Given the description of an element on the screen output the (x, y) to click on. 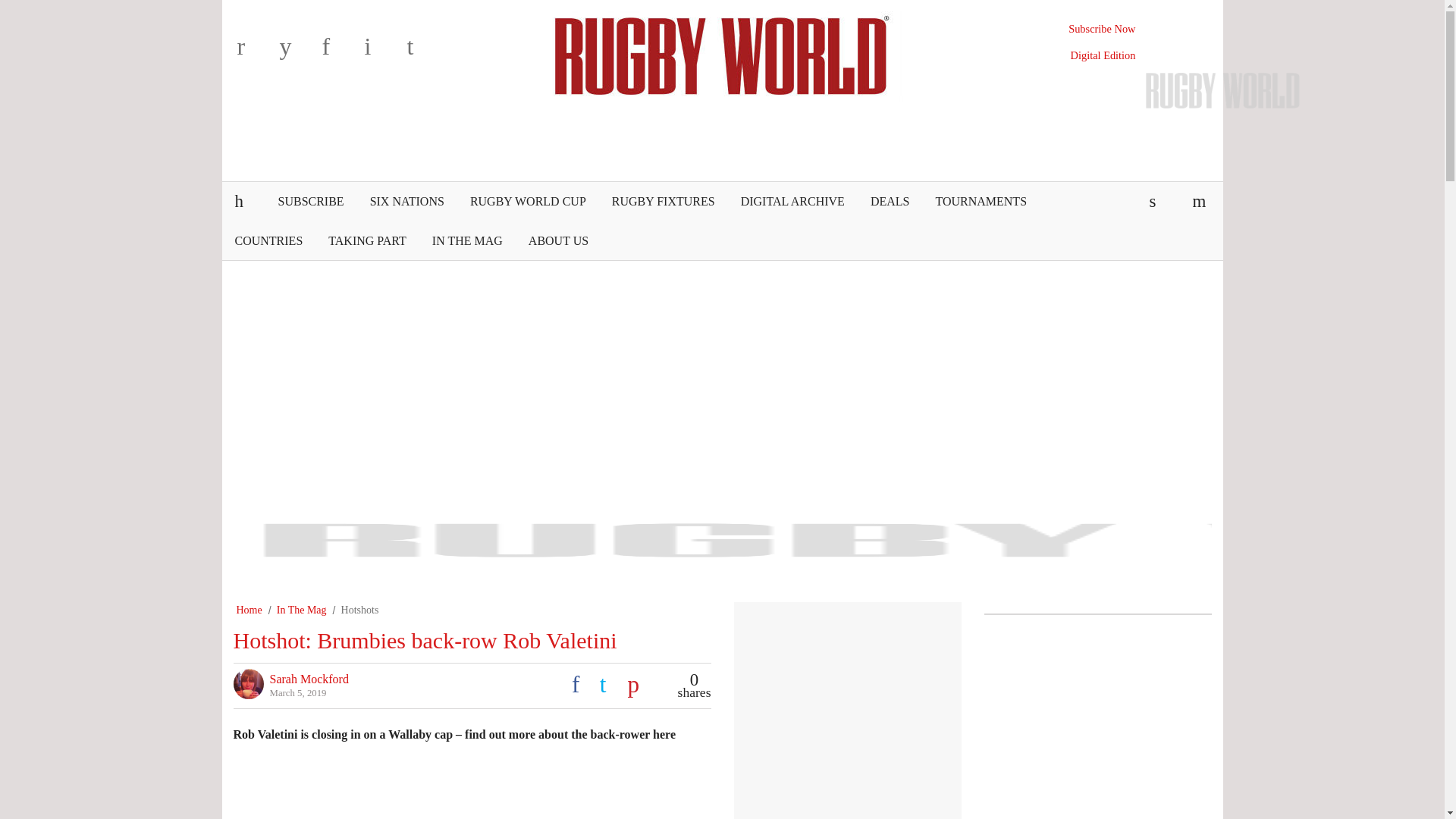
i (382, 52)
RUGBY FIXTURES (663, 201)
Rugby World (721, 53)
DEALS (890, 201)
Rugby World (721, 53)
y (297, 52)
r (254, 52)
Sarah Mockford's Profile (309, 678)
Digital Edition (1102, 55)
RUGBY WORLD CUP (527, 201)
TOURNAMENTS (980, 201)
Subscribe Now (1101, 28)
SIX NATIONS (406, 201)
Digital Edition (1102, 55)
t (424, 52)
